Given the description of an element on the screen output the (x, y) to click on. 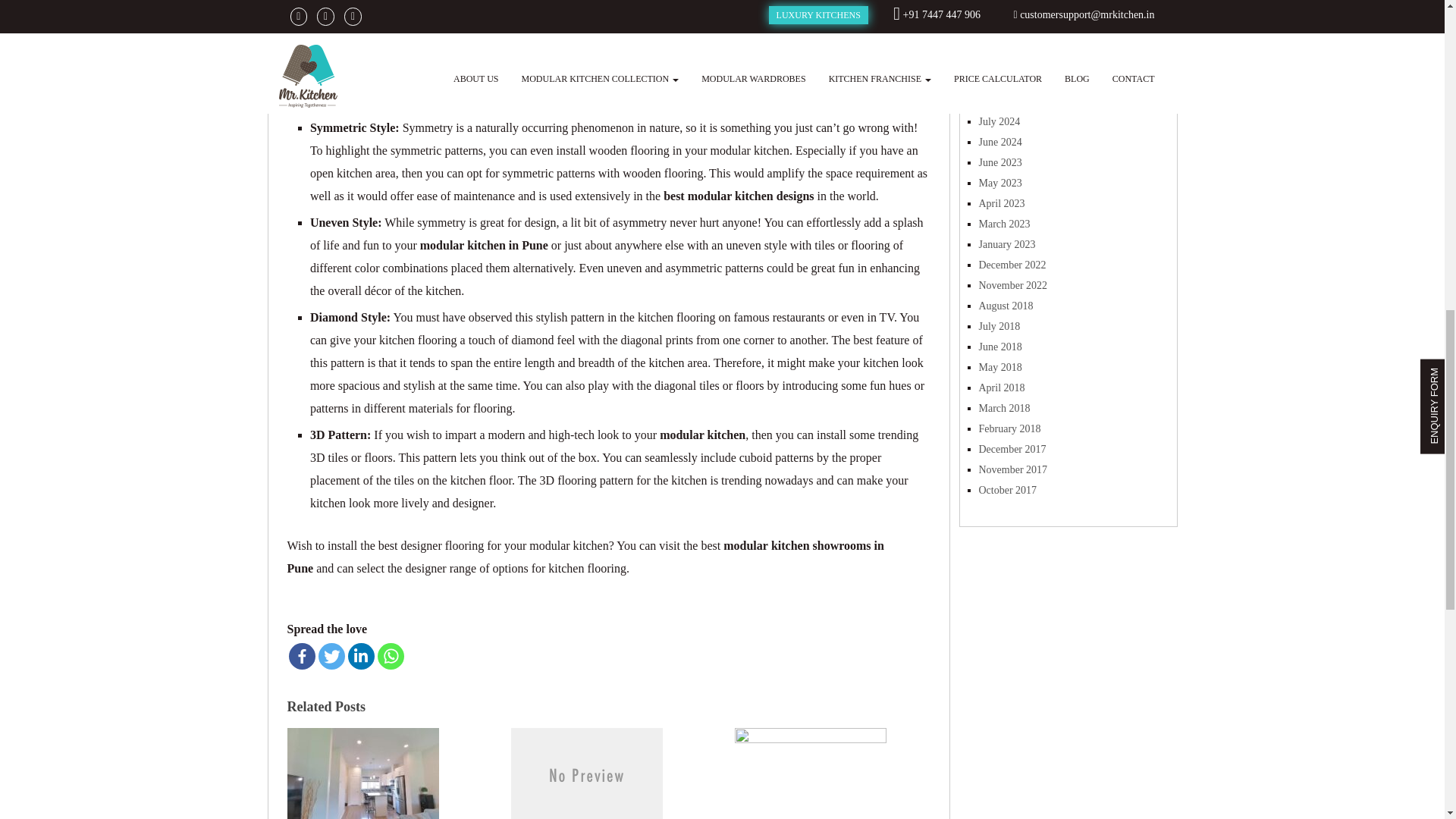
Trending small kitchen lighting ideas (362, 771)
Whatsapp (390, 655)
May 2023 (1000, 183)
Facebook (301, 655)
August 2024 (1005, 101)
Trending small kitchen lighting ideas (362, 771)
Modern small kitchen appliance storage ideas (810, 771)
Modern small kitchen appliance storage ideas (810, 771)
March 2023 (1003, 224)
